Given the description of an element on the screen output the (x, y) to click on. 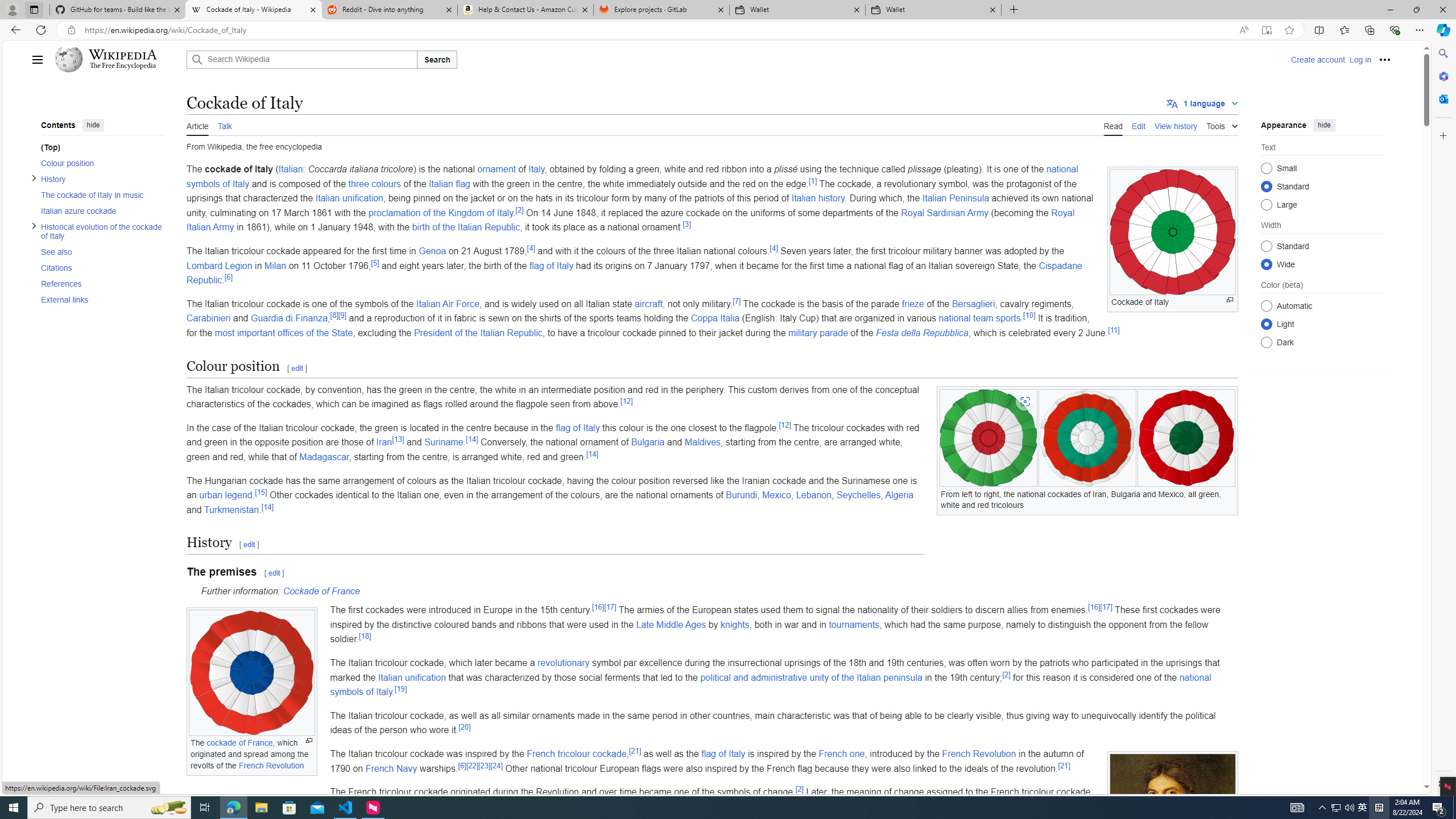
Mexico (775, 495)
frieze (912, 303)
(Top) (101, 146)
Toggle History subsection (33, 177)
Citations (98, 267)
Festa della Repubblica (921, 332)
flag of Italy (723, 753)
Italian Peninsula (955, 198)
edit (274, 573)
Talk (223, 124)
Italy (536, 169)
History (101, 178)
